Given the description of an element on the screen output the (x, y) to click on. 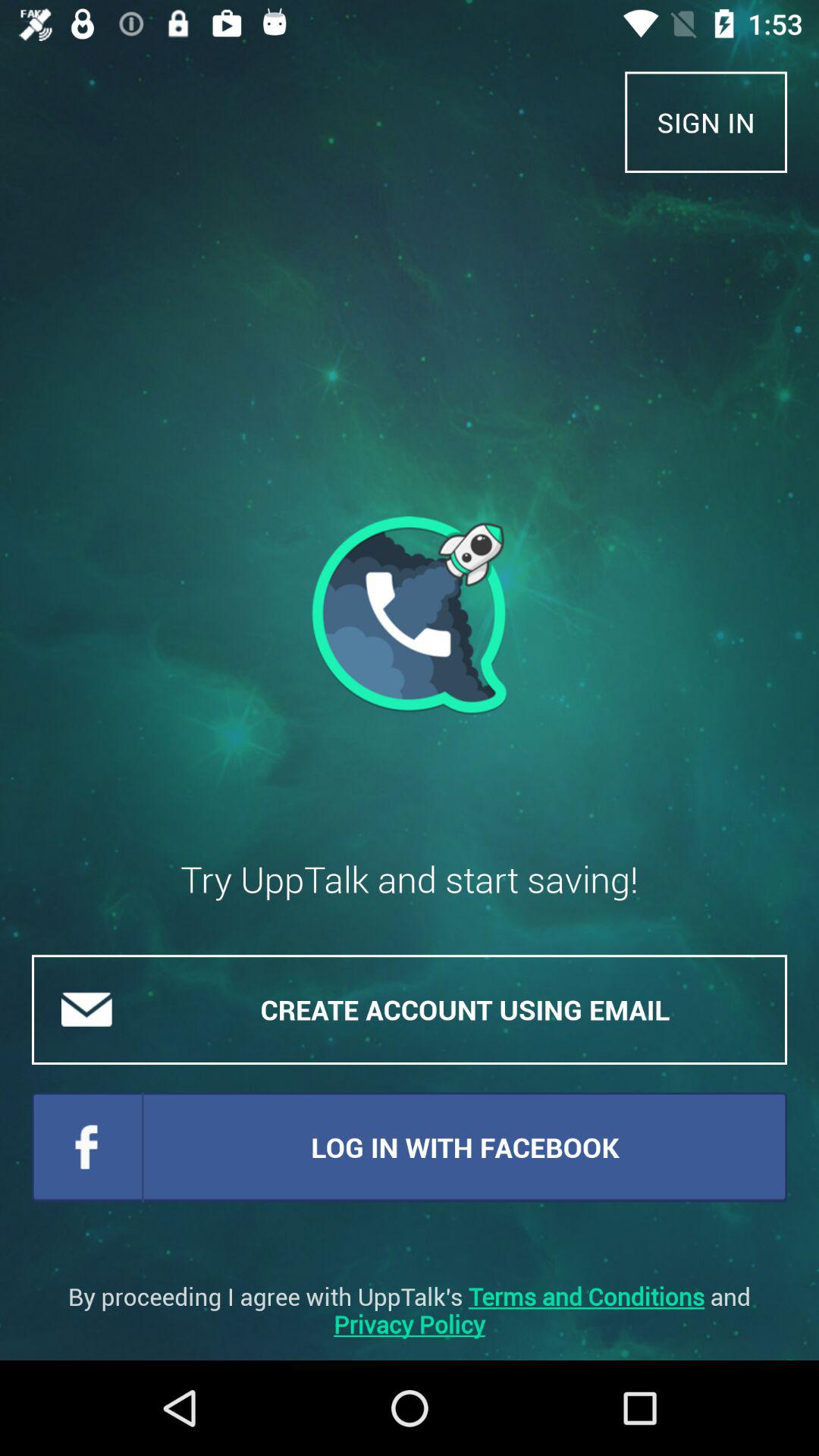
flip to the by proceeding i icon (409, 1310)
